Given the description of an element on the screen output the (x, y) to click on. 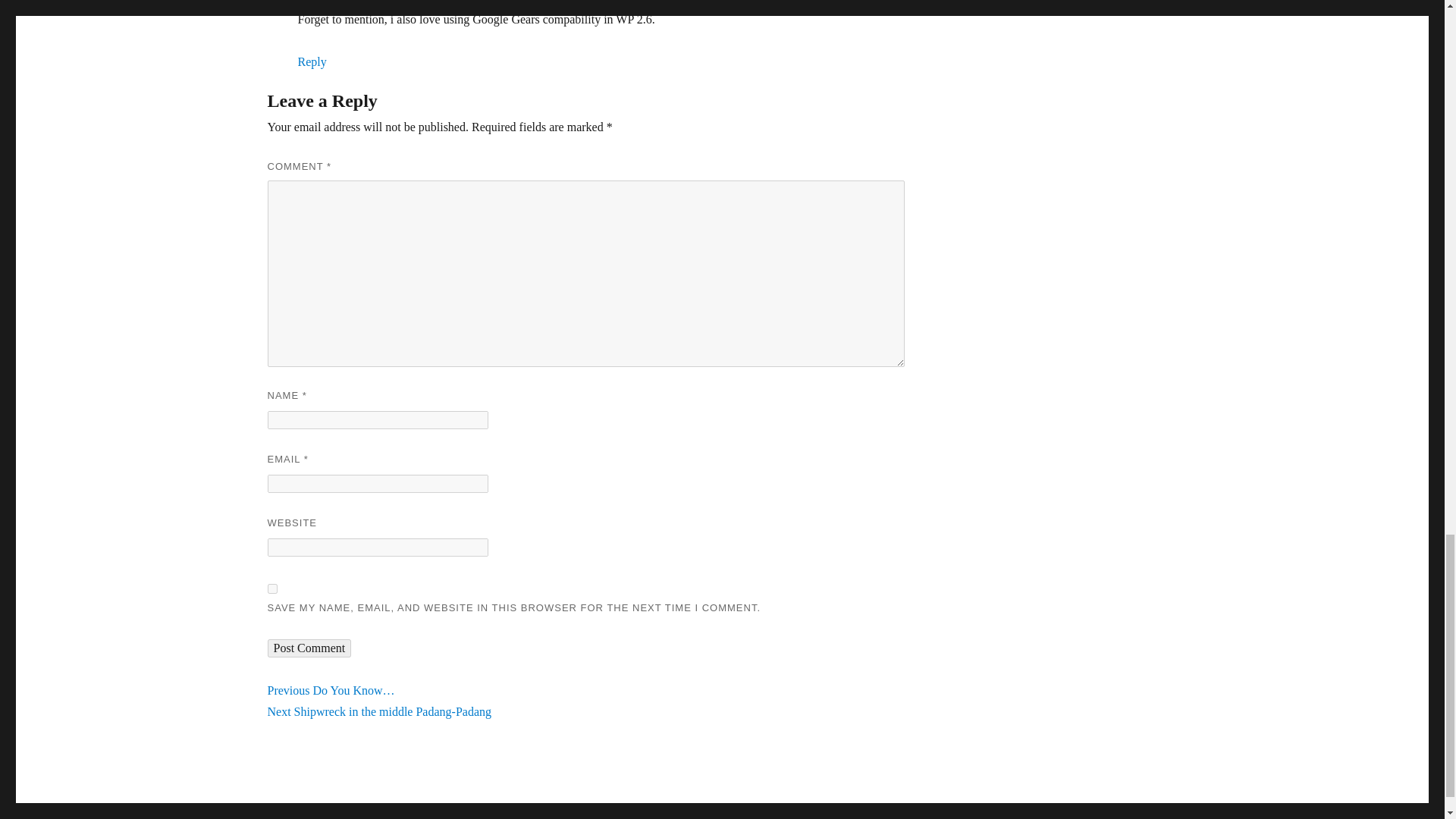
Post Comment (379, 711)
Post Comment (308, 648)
yes (308, 648)
Reply (271, 588)
